Given the description of an element on the screen output the (x, y) to click on. 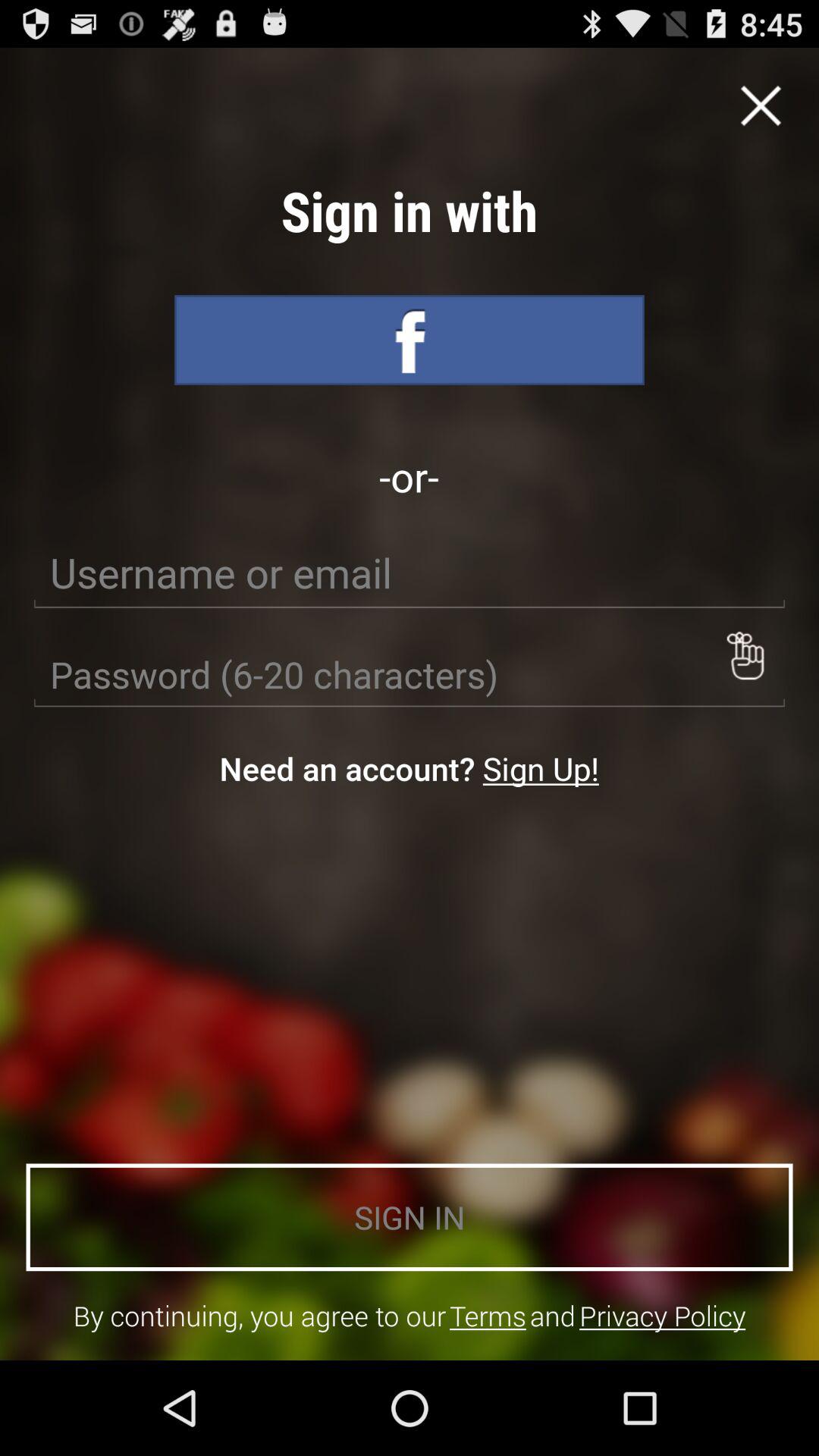
toggle password visibility (744, 655)
